Given the description of an element on the screen output the (x, y) to click on. 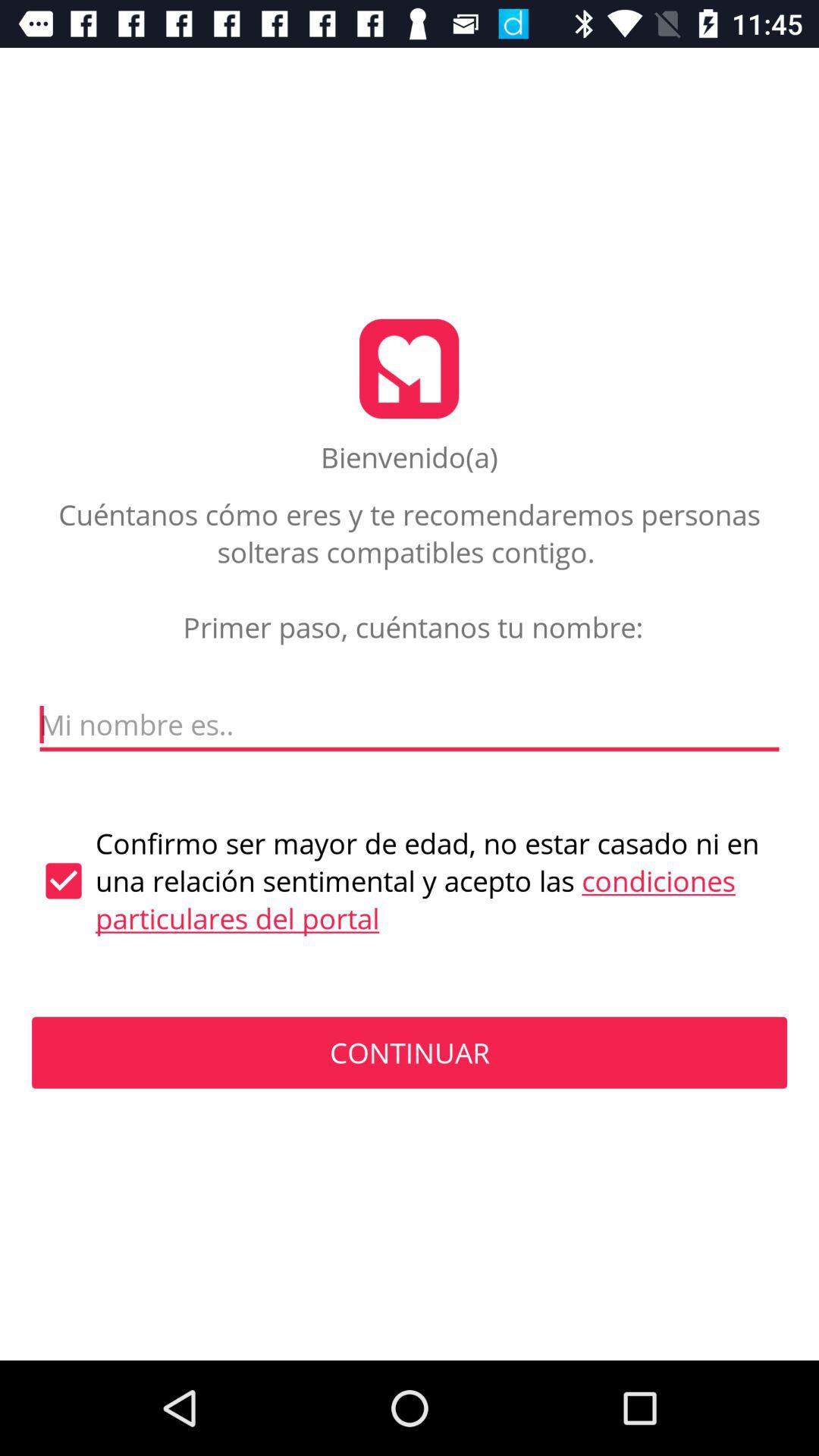
launch icon above confirmo ser mayor (409, 724)
